Given the description of an element on the screen output the (x, y) to click on. 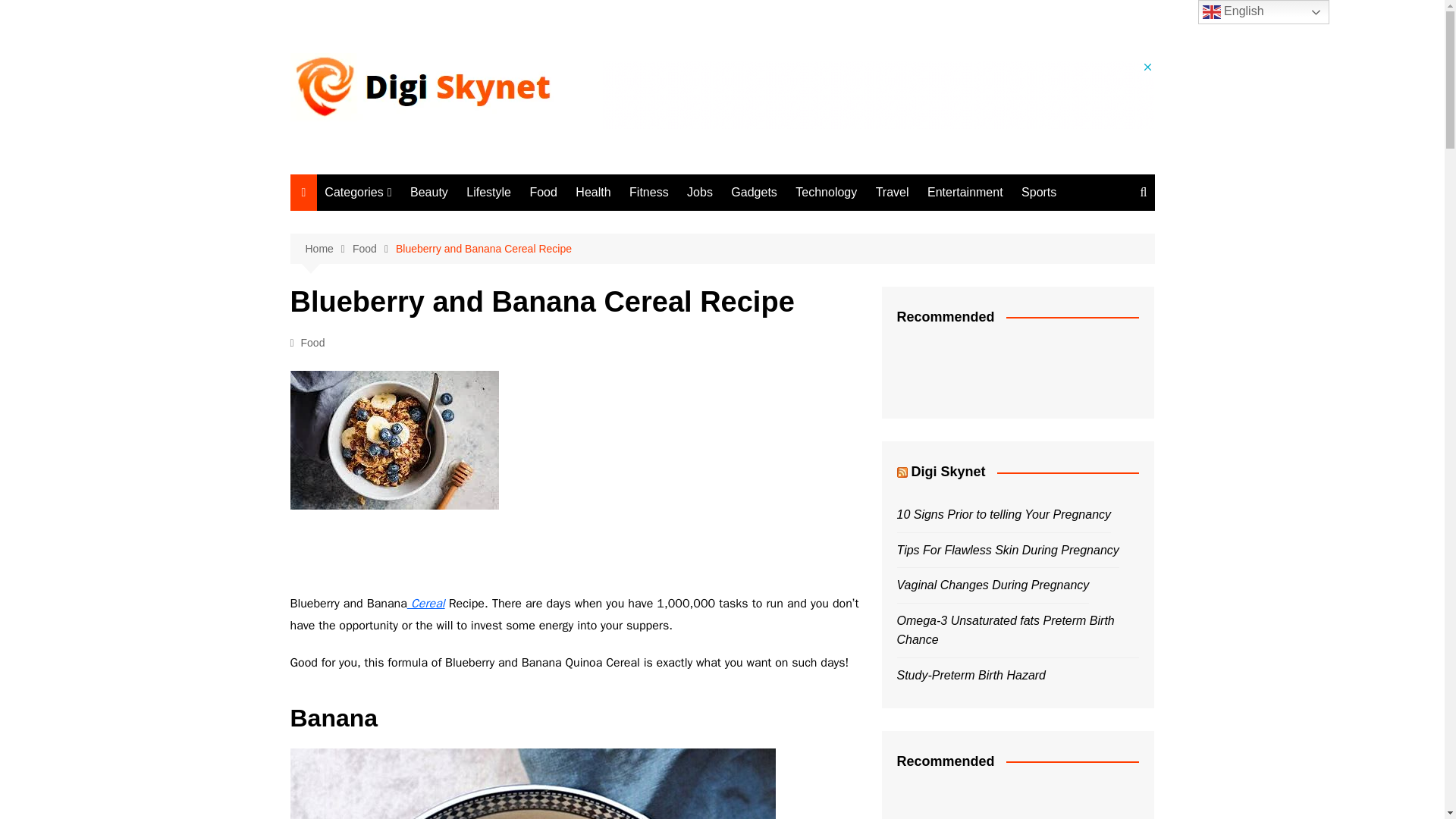
Sports (1038, 192)
Jobs (699, 192)
Sports (400, 498)
Blueberry and Banana Cereal Recipe (393, 440)
Travel (892, 192)
Technology (400, 423)
Lifestyle (488, 192)
Jobs (400, 373)
Technology (825, 192)
Categories (357, 192)
Food (400, 273)
Pets (400, 523)
Fitness (400, 323)
Food (542, 192)
3rd party ad content (878, 94)
